Given the description of an element on the screen output the (x, y) to click on. 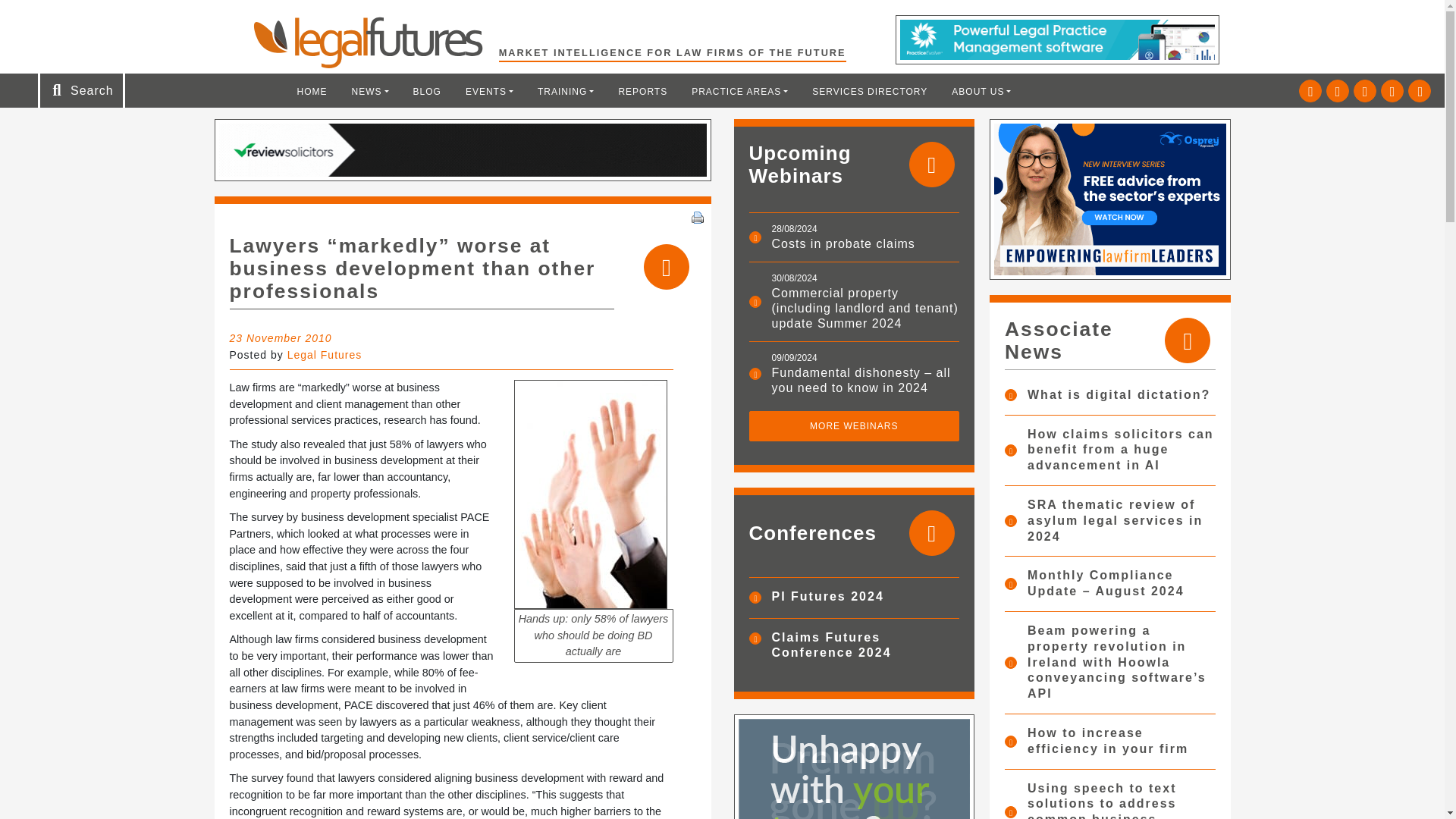
See Legal Futures on Rss (1419, 90)
EVENTS (488, 91)
Legal Futures homepage (375, 42)
See Legal Futures on Facebook-f (1364, 90)
See Legal Futures on Twitter (1310, 90)
SERVICES DIRECTORY (869, 91)
HOME (312, 91)
Search (51, 16)
News (370, 91)
REPORTS (642, 91)
